Given the description of an element on the screen output the (x, y) to click on. 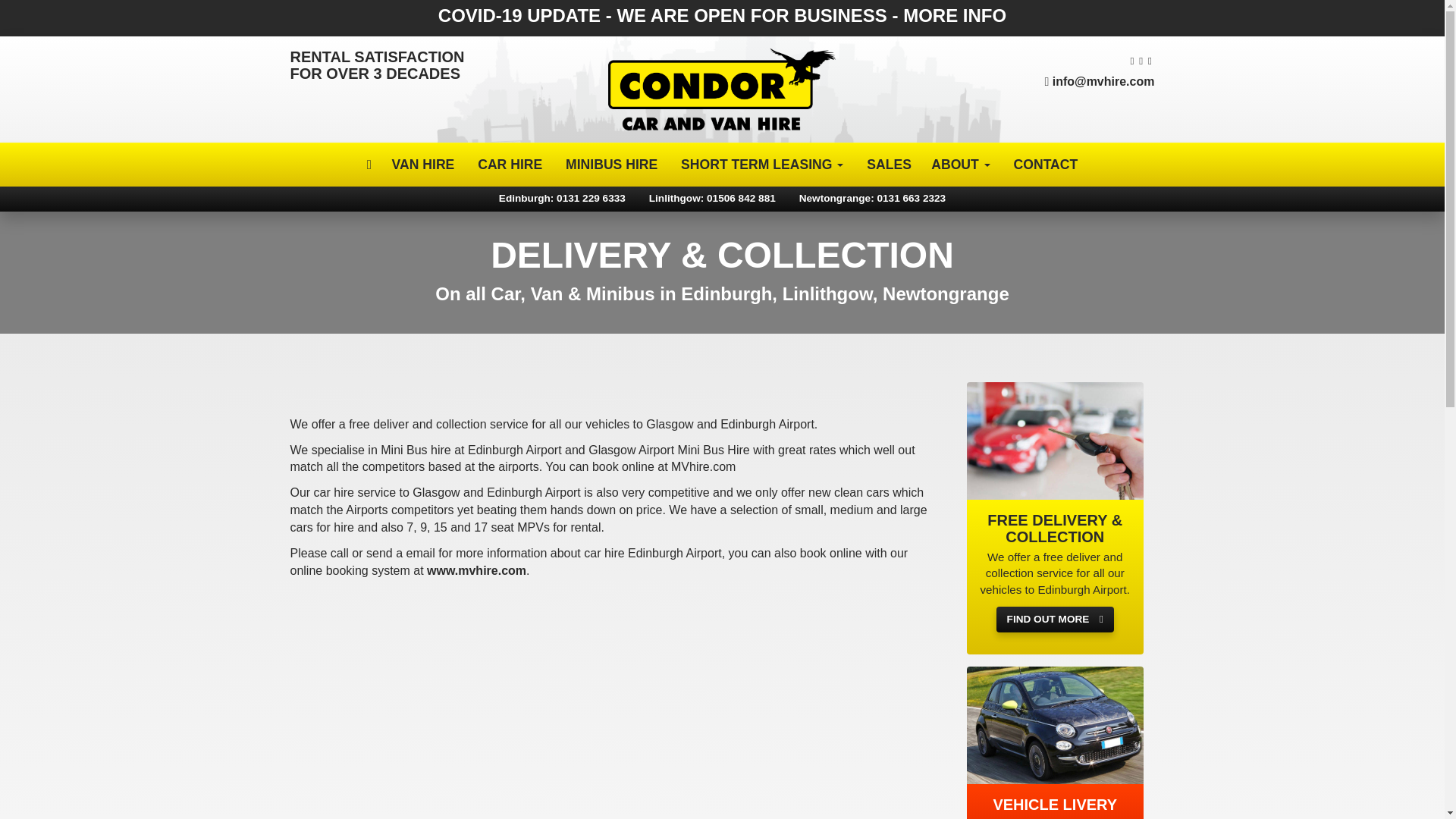
SALES (889, 163)
VAN HIRE (422, 163)
CAR HIRE (509, 163)
SHORT TERM LEASING (762, 163)
MORE INFO (954, 14)
MINIBUS HIRE (612, 163)
